Given the description of an element on the screen output the (x, y) to click on. 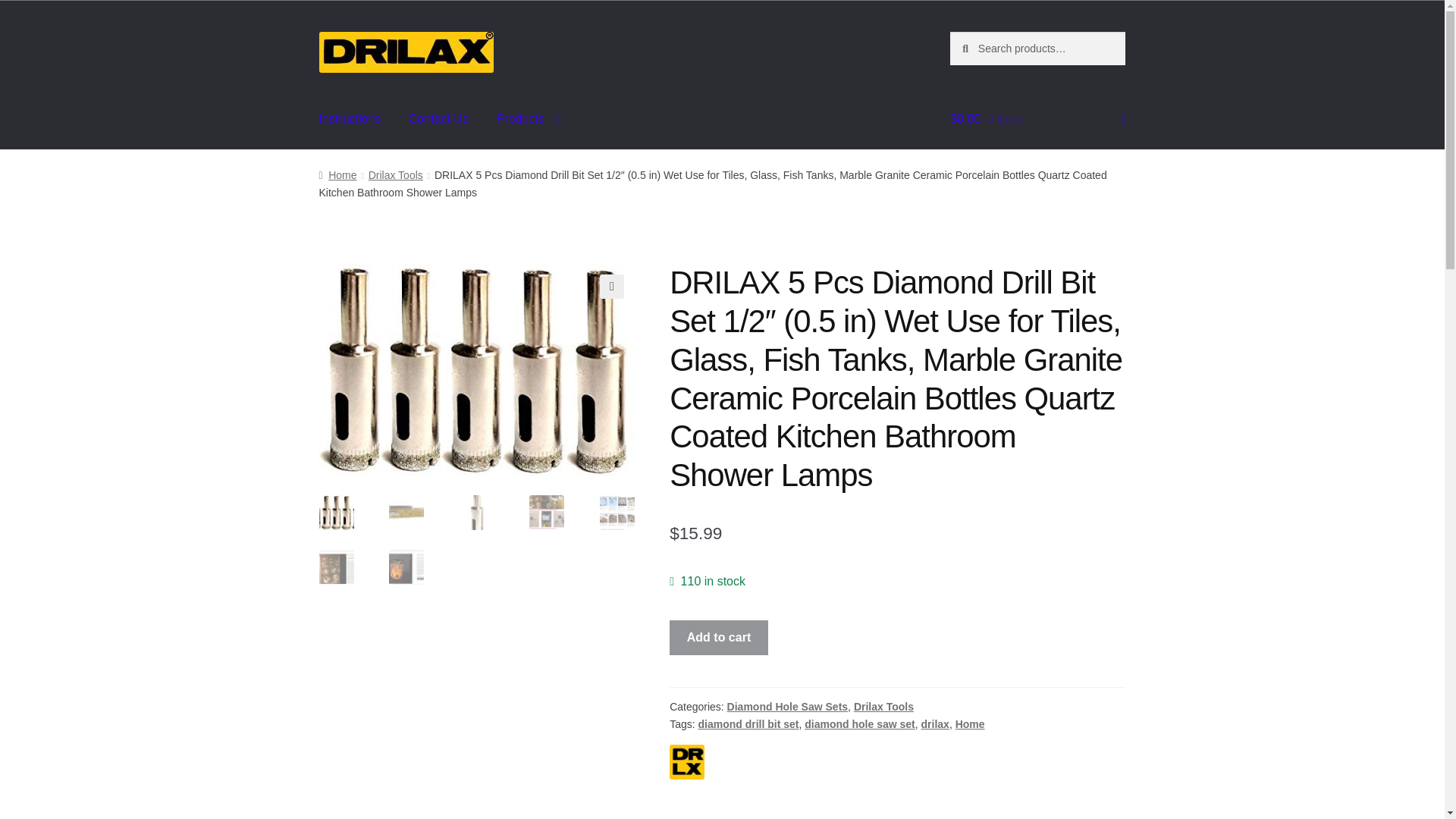
diamond hole saw set (859, 723)
Diamond Hole Saw Sets (786, 706)
View your shopping cart (1037, 119)
Drilax Tools (883, 706)
diamond drill bit set (747, 723)
Drilax (686, 761)
Add to cart (718, 637)
Drilax Tools (395, 174)
Home (337, 174)
Instructions (350, 119)
Contact Us (438, 119)
Products (527, 119)
